Given the description of an element on the screen output the (x, y) to click on. 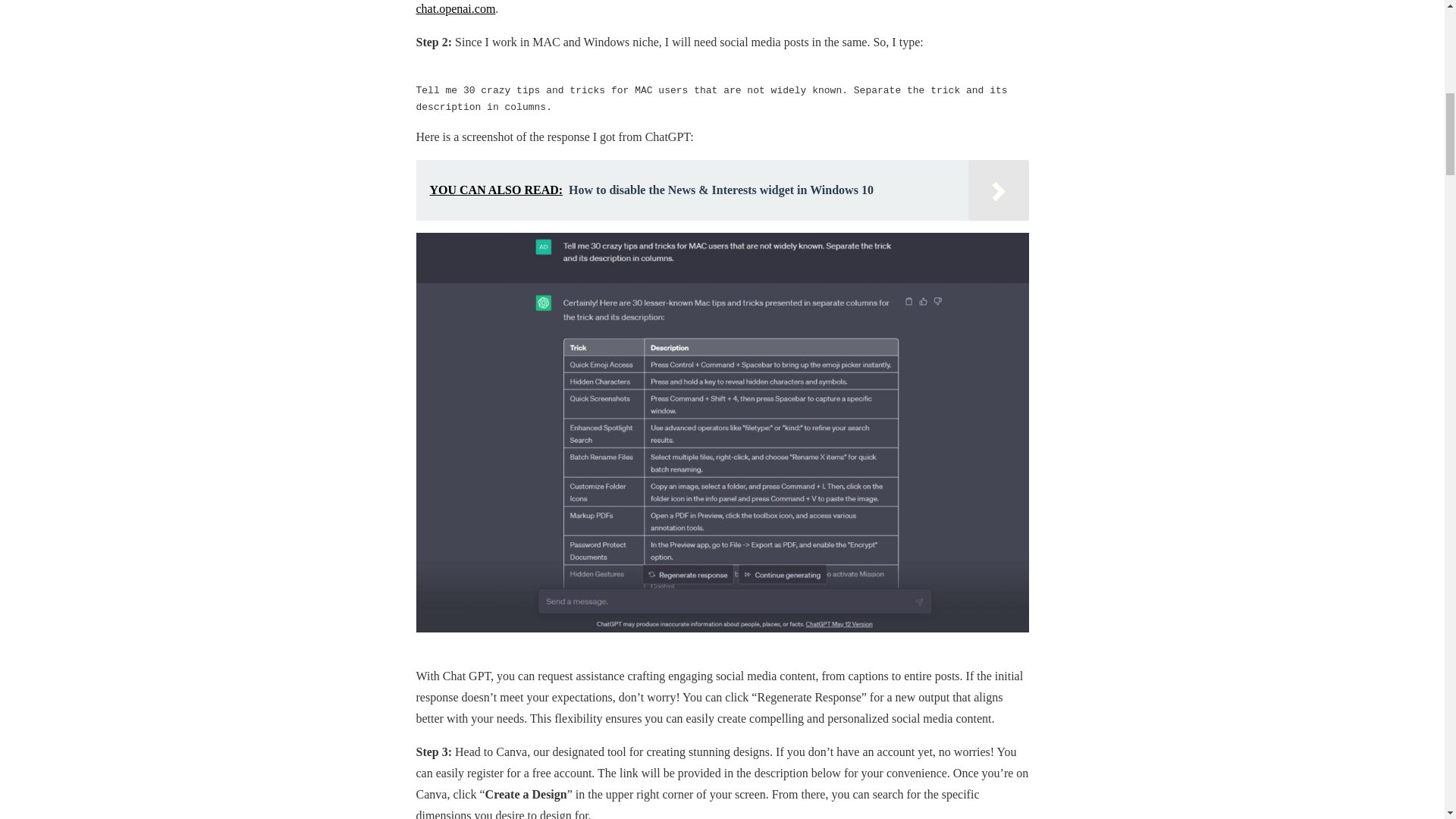
chat.openai.com (454, 8)
